Given the description of an element on the screen output the (x, y) to click on. 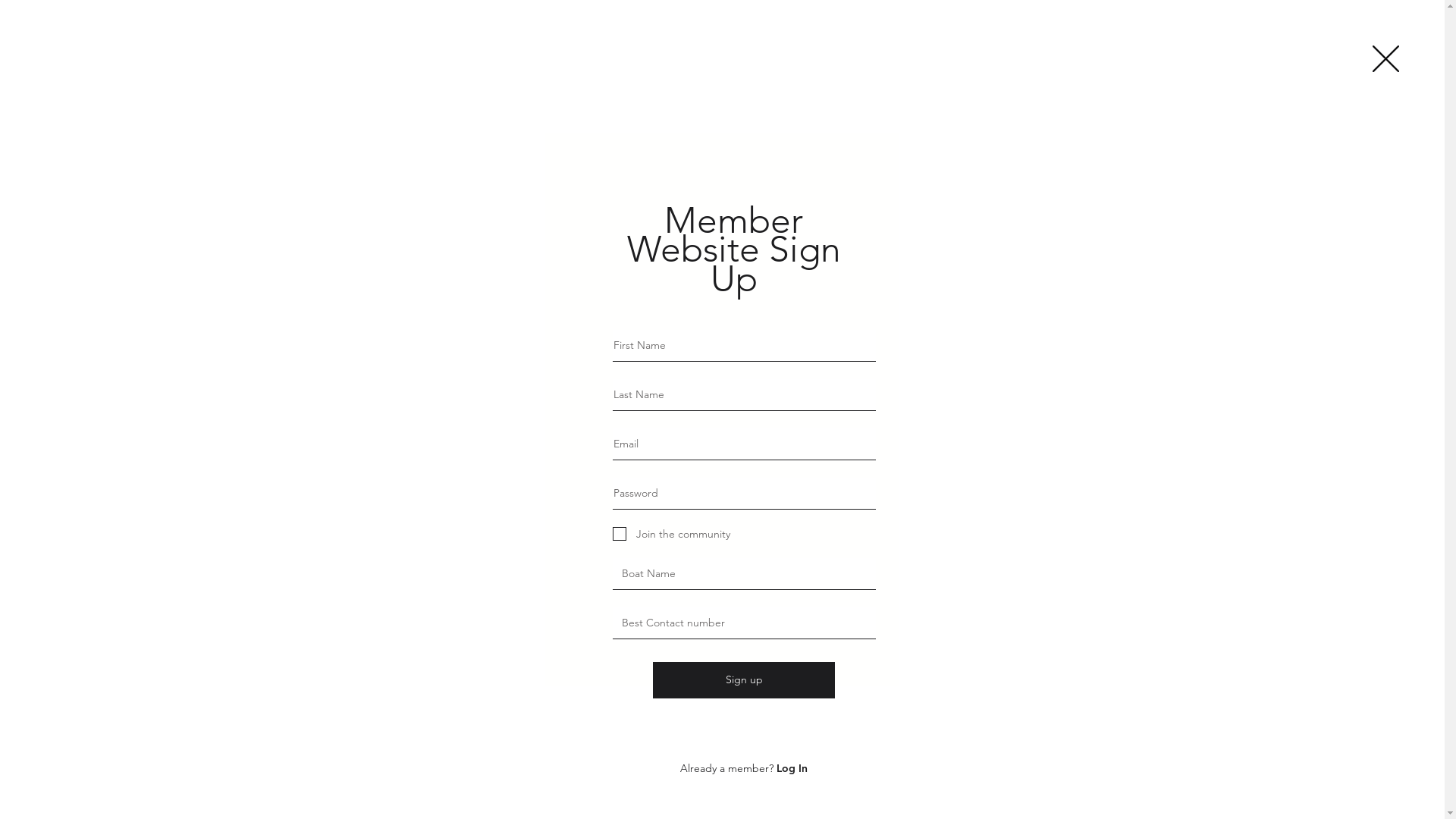
Back to site Element type: hover (1385, 58)
Sign up Element type: text (743, 680)
